Given the description of an element on the screen output the (x, y) to click on. 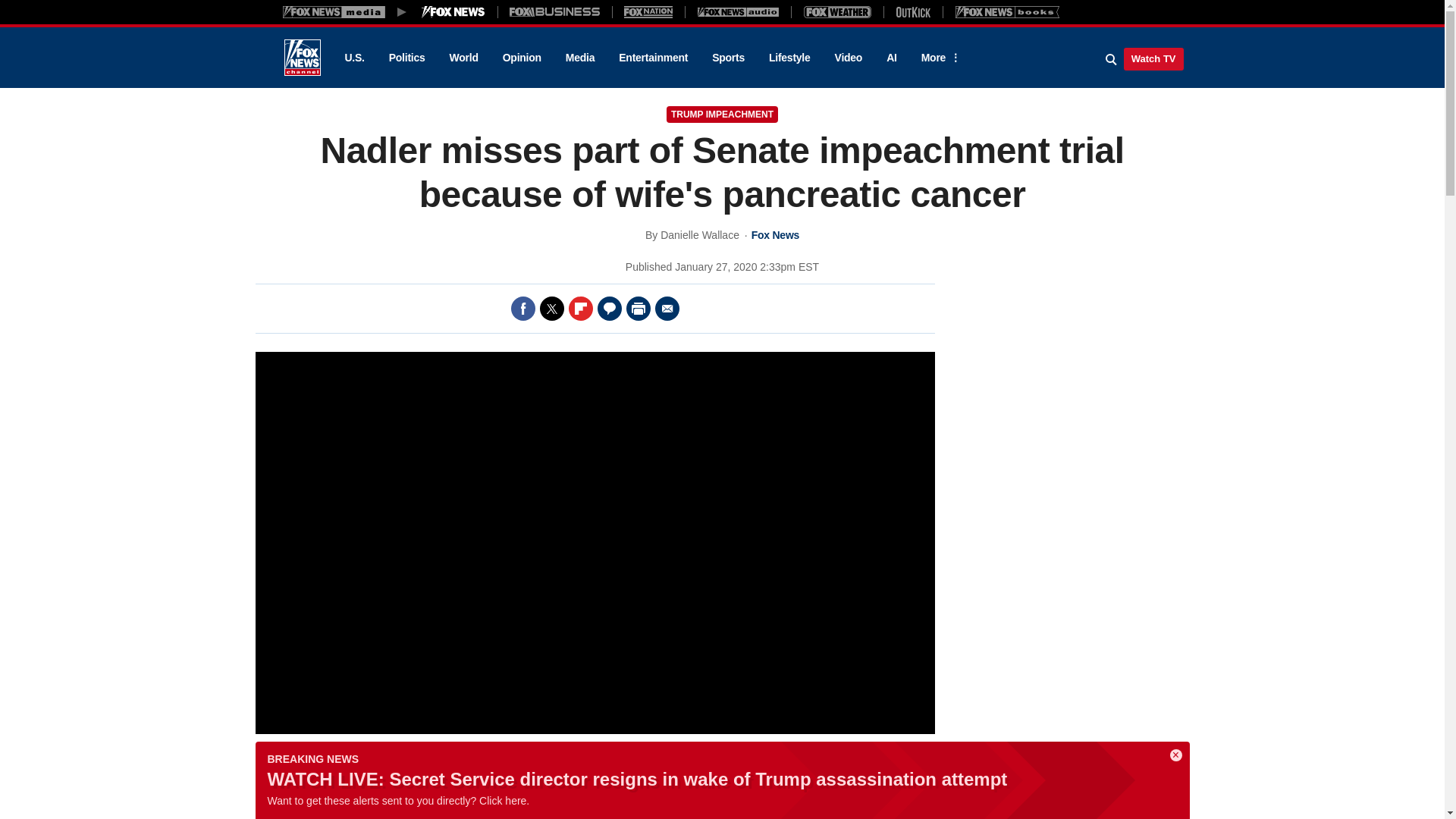
AI (891, 57)
Outkick (912, 11)
Fox News Media (453, 11)
Fox News Audio (737, 11)
Lifestyle (789, 57)
World (464, 57)
Watch TV (1153, 58)
U.S. (353, 57)
Video (848, 57)
Media (580, 57)
Books (1007, 11)
Fox Business (554, 11)
Fox Nation (648, 11)
Fox News (301, 57)
Politics (407, 57)
